Given the description of an element on the screen output the (x, y) to click on. 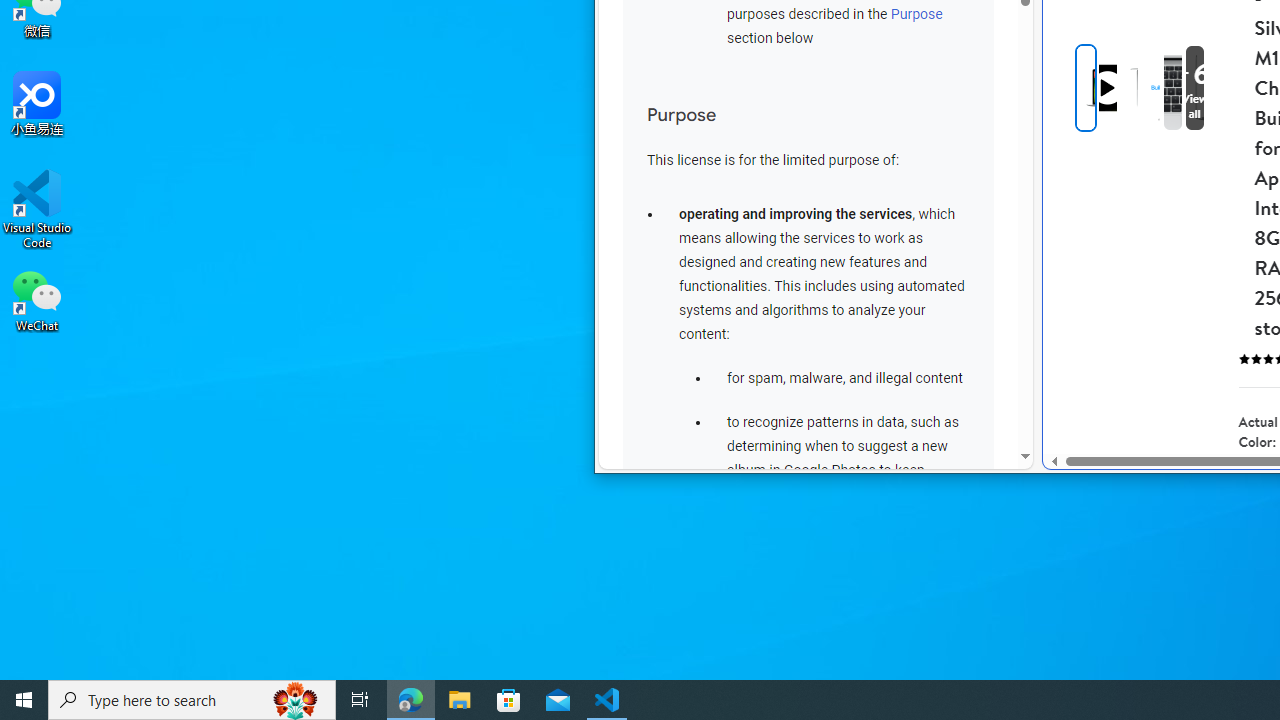
Class: absolute pointer (1107, 88)
Search highlights icon opens search home window (295, 699)
Task View (359, 699)
Start (24, 699)
Visual Studio Code - 1 running window (607, 699)
File Explorer (460, 699)
Microsoft Edge - 1 running window (411, 699)
WeChat (37, 299)
Type here to search (191, 699)
